Given the description of an element on the screen output the (x, y) to click on. 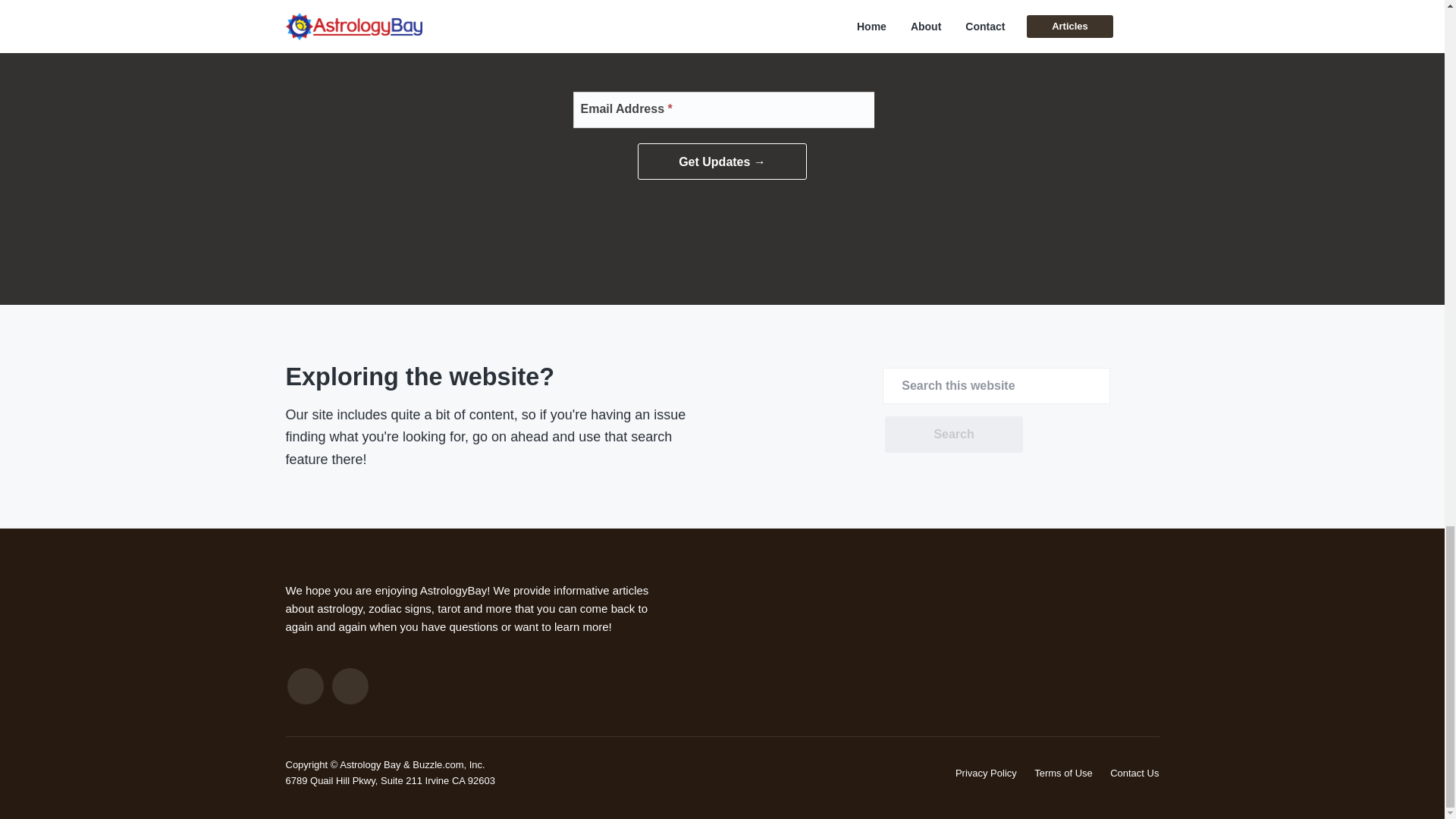
Search (953, 434)
Privacy Policy (985, 772)
Search (953, 434)
Terms of Use (1063, 772)
Search (953, 434)
Contact Us (1133, 772)
